Given the description of an element on the screen output the (x, y) to click on. 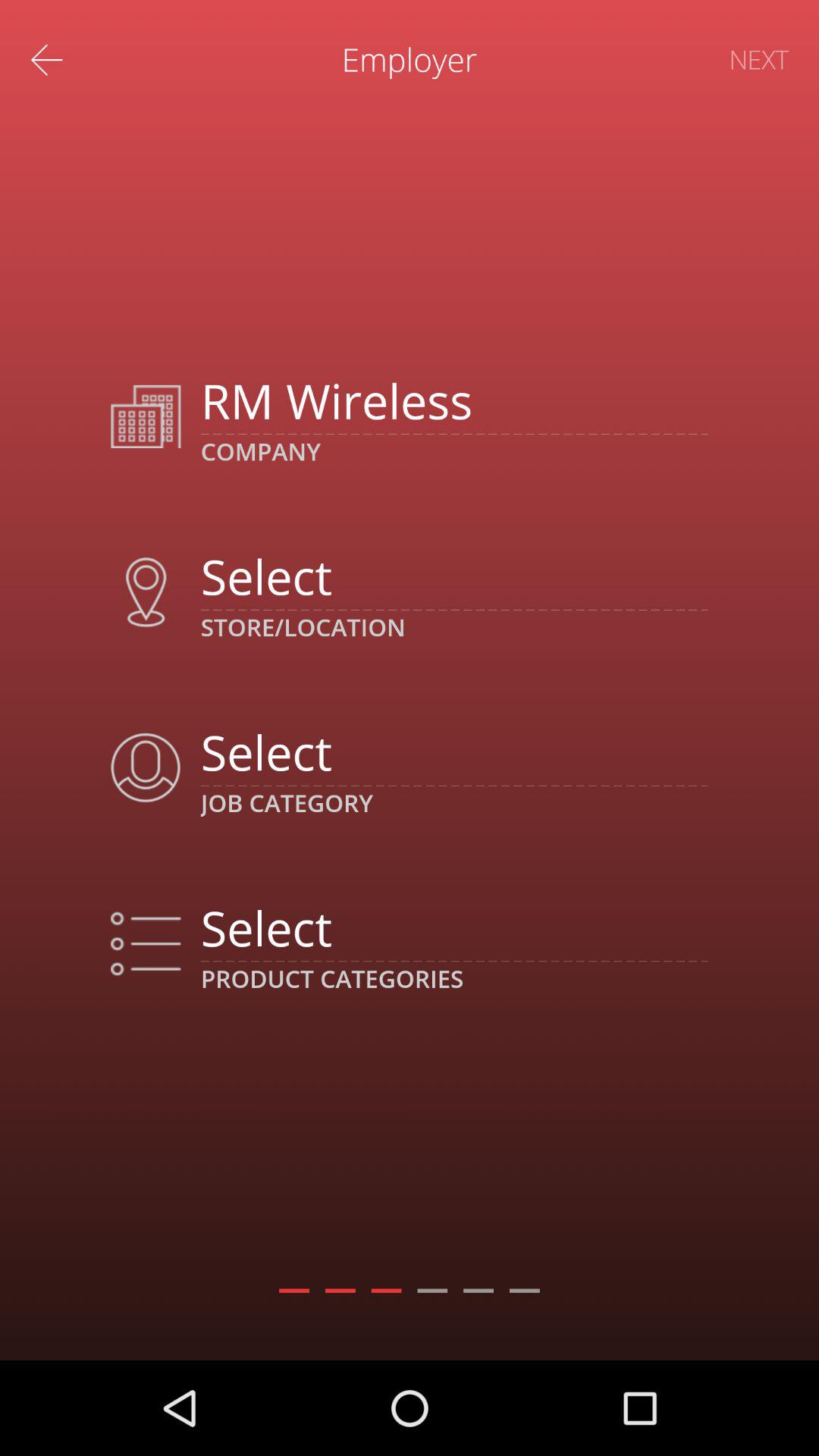
job category drop down box (454, 751)
